Given the description of an element on the screen output the (x, y) to click on. 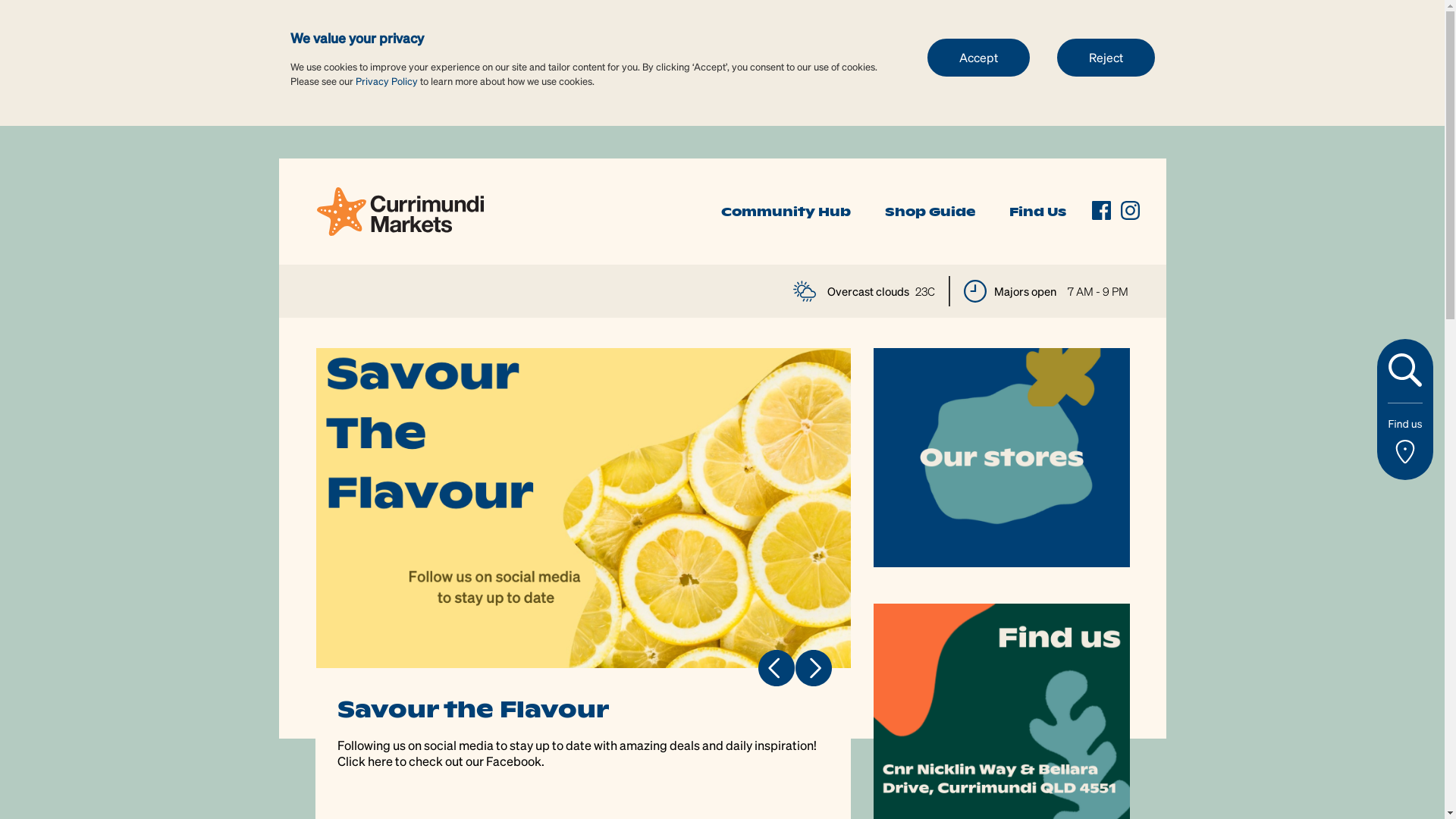
Find Us Element type: text (1036, 211)
Next Element type: text (812, 667)
Accept Element type: text (977, 56)
Previous Element type: text (776, 667)
Reject Element type: text (1105, 56)
Privacy Policy Element type: text (385, 80)
Community Hub Element type: text (785, 211)
time Element type: hover (974, 290)
facebook Element type: hover (1101, 209)
majors open
7 AM - 9 PM Element type: text (1045, 290)
instagram Element type: hover (1129, 209)
Shop Guide Element type: text (929, 211)
